Given the description of an element on the screen output the (x, y) to click on. 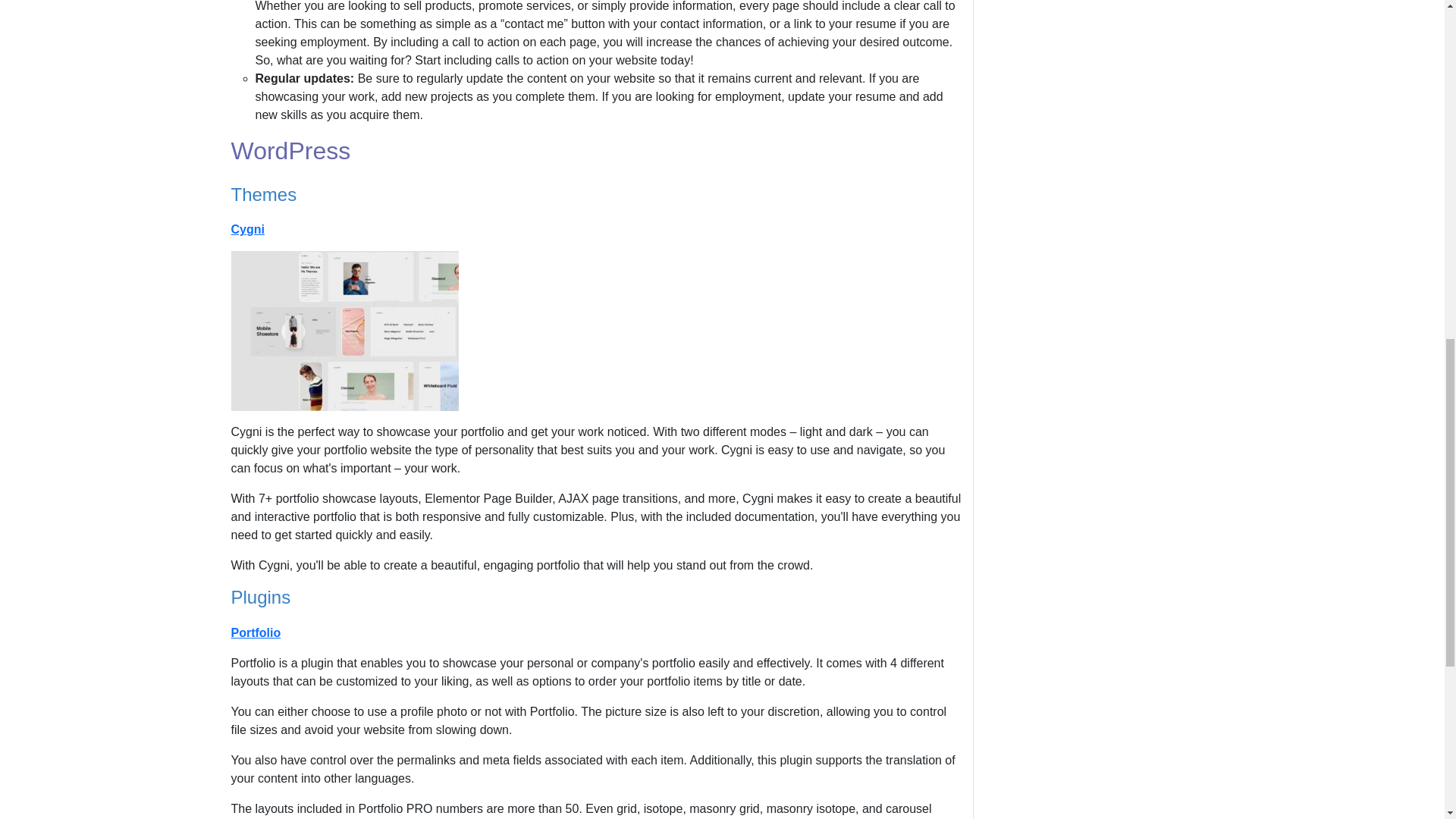
Portfolio (255, 632)
Cygni (246, 228)
